Given the description of an element on the screen output the (x, y) to click on. 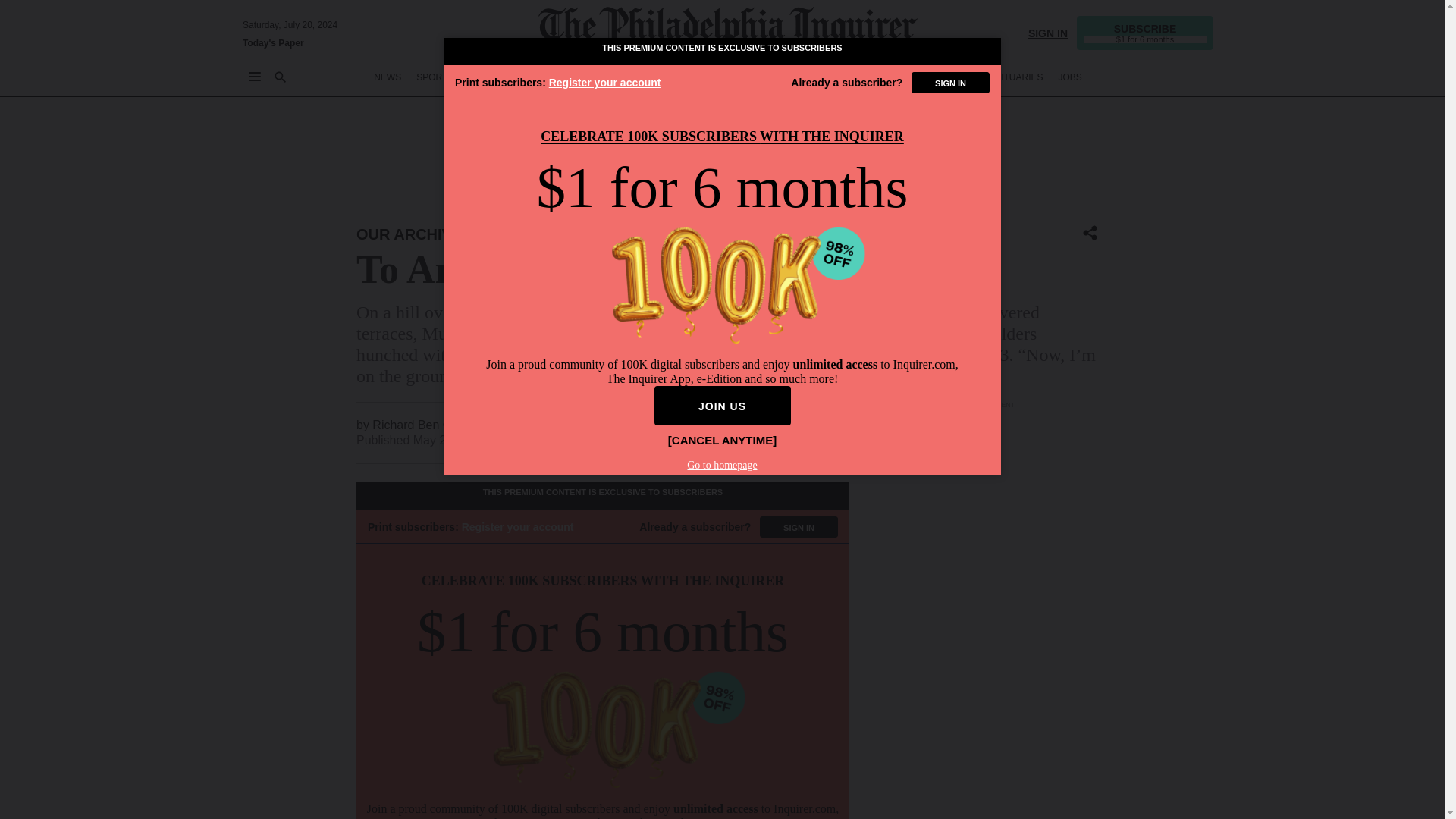
OPINION (604, 77)
HEALTH (878, 77)
OUR ARCHIVES (413, 234)
JOBS (1069, 77)
SUBSCRIBE (1144, 32)
BETTING (488, 77)
Today's Paper (273, 42)
SIGN IN (1047, 32)
Share Icon (1090, 233)
BUSINESS (545, 77)
OBITUARIES (1015, 77)
3rd party ad content (727, 156)
LIFE (795, 77)
REAL ESTATE (942, 77)
SPORTS (434, 77)
